Given the description of an element on the screen output the (x, y) to click on. 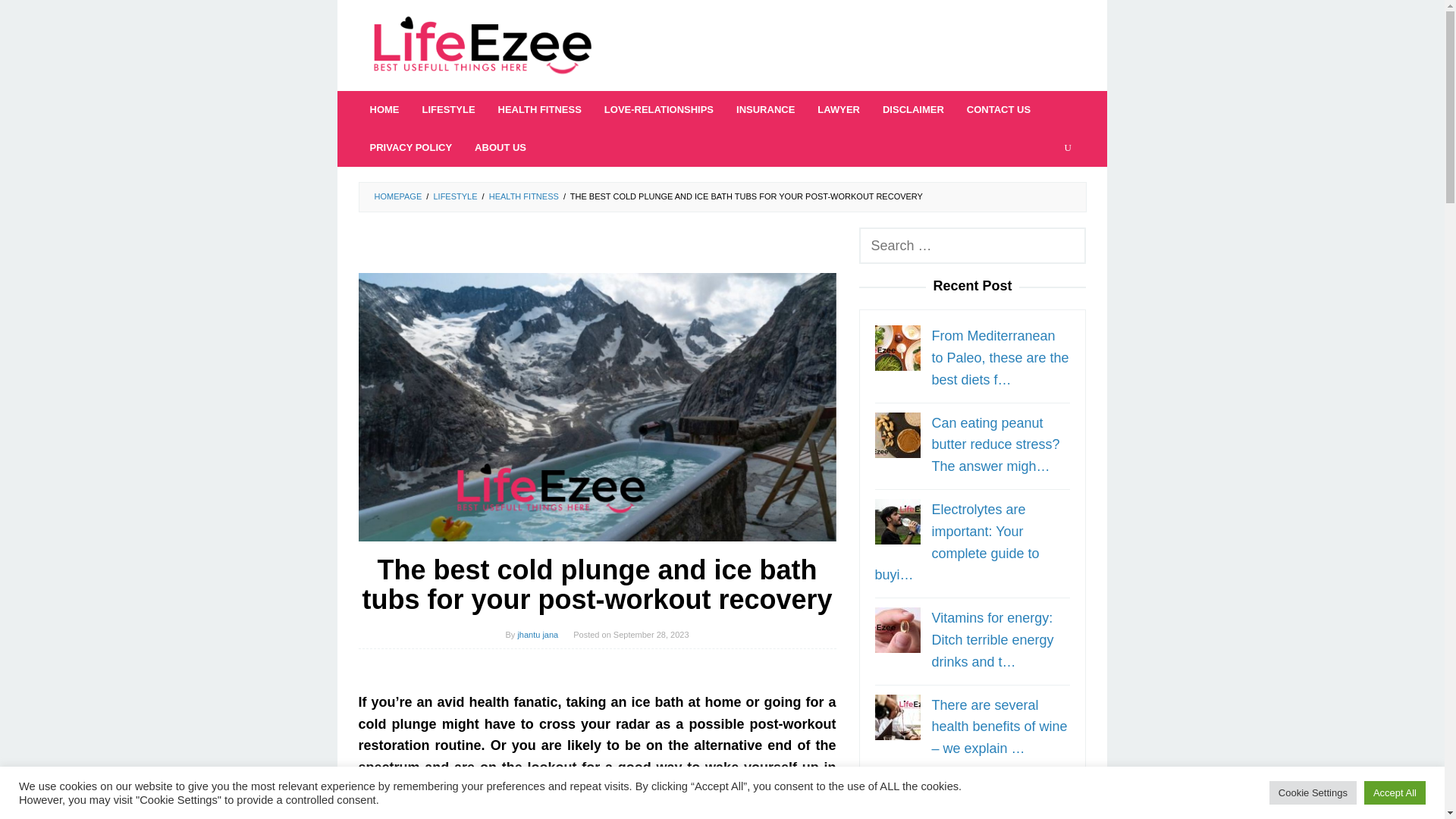
Search (33, 18)
LIFESTYLE (454, 195)
Lifeezee (481, 44)
DISCLAIMER (912, 109)
Lifeezee (481, 45)
PRIVACY POLICY (410, 147)
LOVE-RELATIONSHIPS (658, 109)
LIFESTYLE (448, 109)
Permalink to: jhantu jana (536, 634)
LAWYER (838, 109)
